Given the description of an element on the screen output the (x, y) to click on. 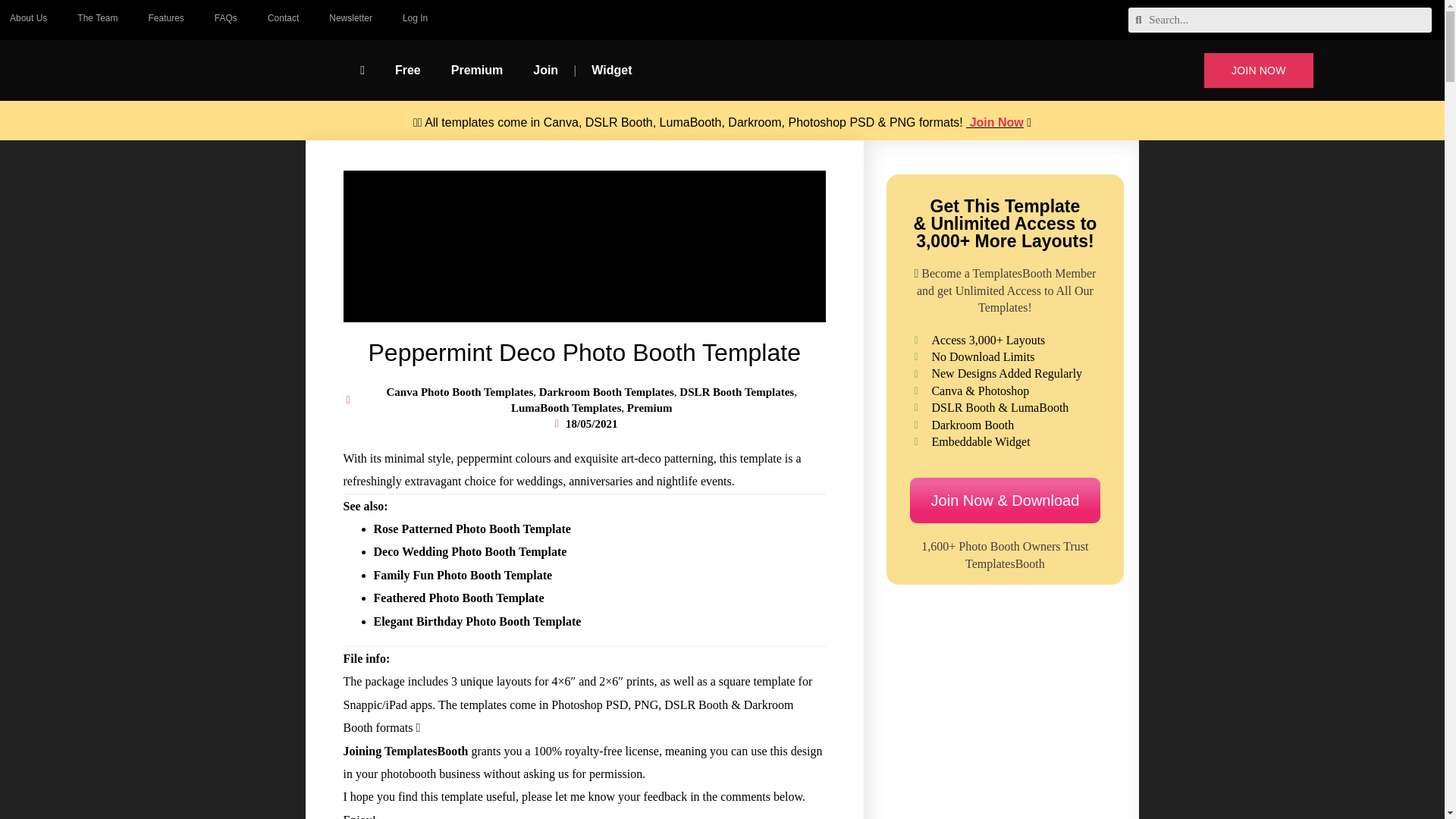
Log In (414, 18)
About Us (31, 18)
Widget (611, 70)
Newsletter (350, 18)
Features (166, 18)
Premium (476, 70)
FAQs (225, 18)
Join (545, 70)
Contact (282, 18)
The Team (97, 18)
Free (407, 70)
